Given the description of an element on the screen output the (x, y) to click on. 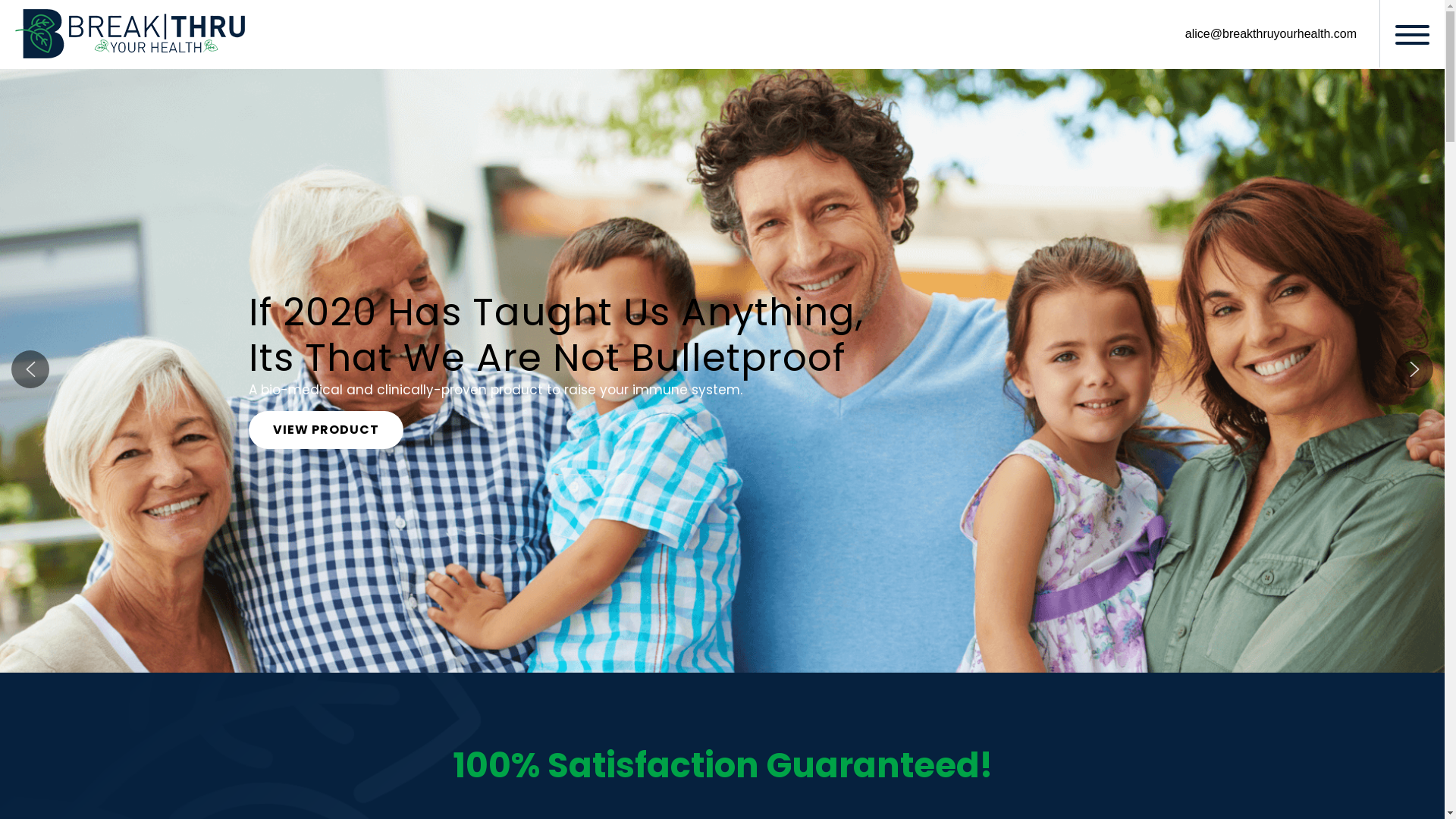
VIEW PRODUCT Element type: text (325, 429)
alice@breakthruyourhealth.com Element type: text (1270, 33)
